Given the description of an element on the screen output the (x, y) to click on. 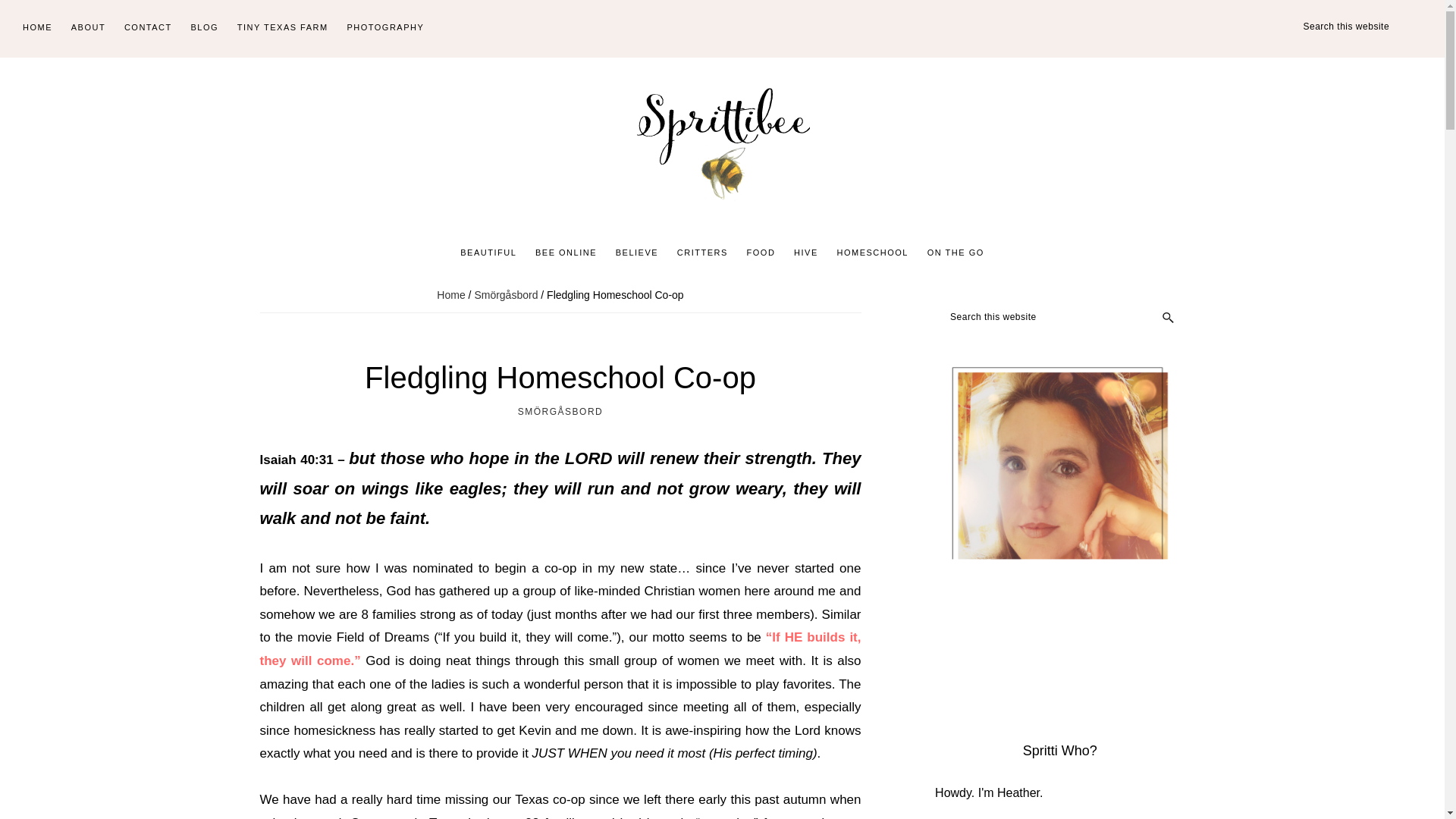
CONTACT (147, 27)
PHOTOGRAPHY (384, 27)
BEAUTIFUL (488, 253)
FOOD (761, 253)
ABOUT (88, 27)
BEE ONLINE (565, 253)
